Given the description of an element on the screen output the (x, y) to click on. 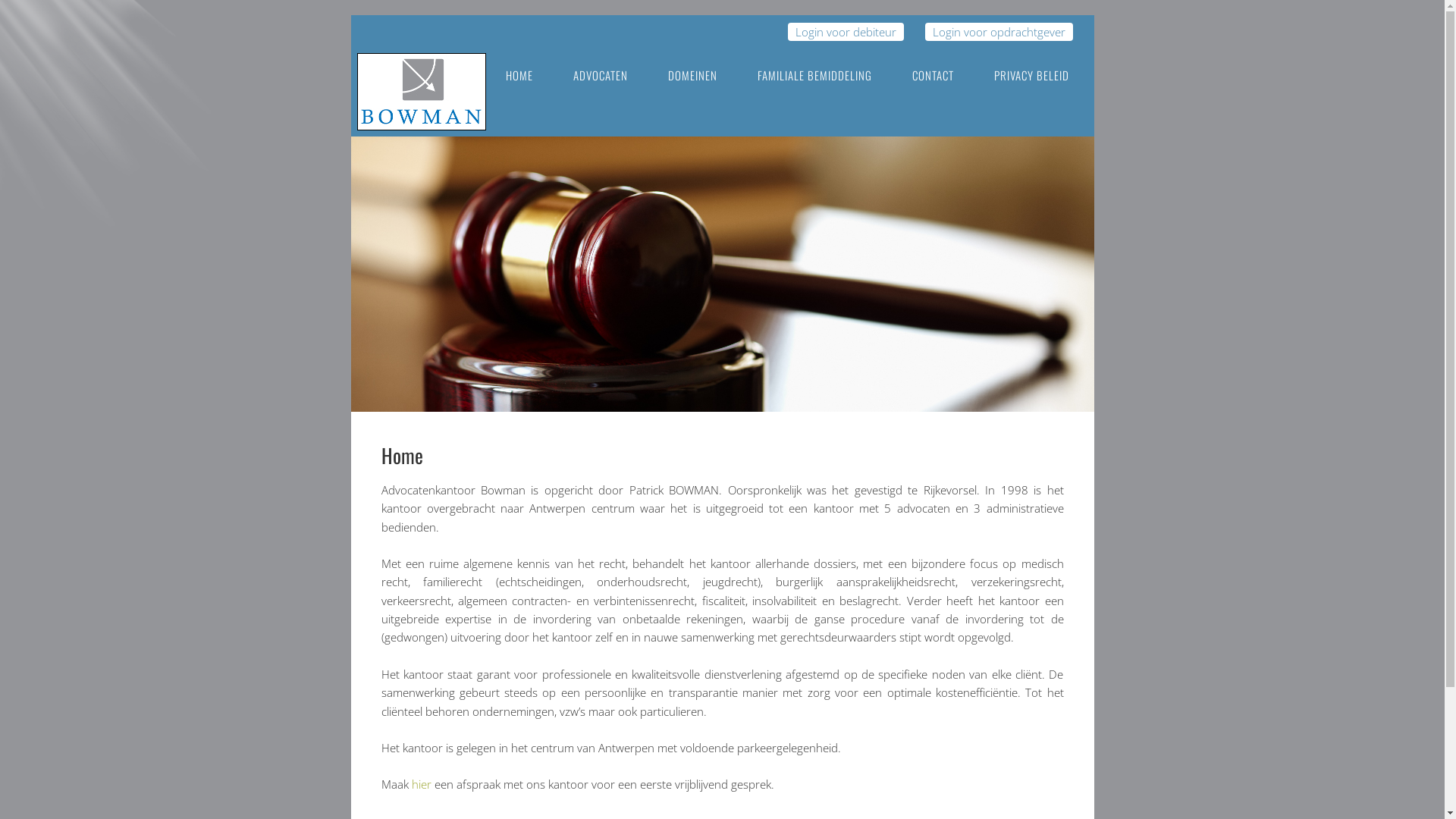
CONTACT Element type: text (932, 75)
HOME Element type: text (518, 75)
Bowman Element type: hover (420, 114)
Login voor debiteur Element type: text (844, 31)
PRIVACY BELEID Element type: text (1030, 75)
ADVOCATEN Element type: text (600, 75)
FAMILIALE BEMIDDELING Element type: text (813, 75)
hier Element type: text (420, 783)
DOMEINEN Element type: text (691, 75)
Login voor opdrachtgever Element type: text (998, 31)
